Given the description of an element on the screen output the (x, y) to click on. 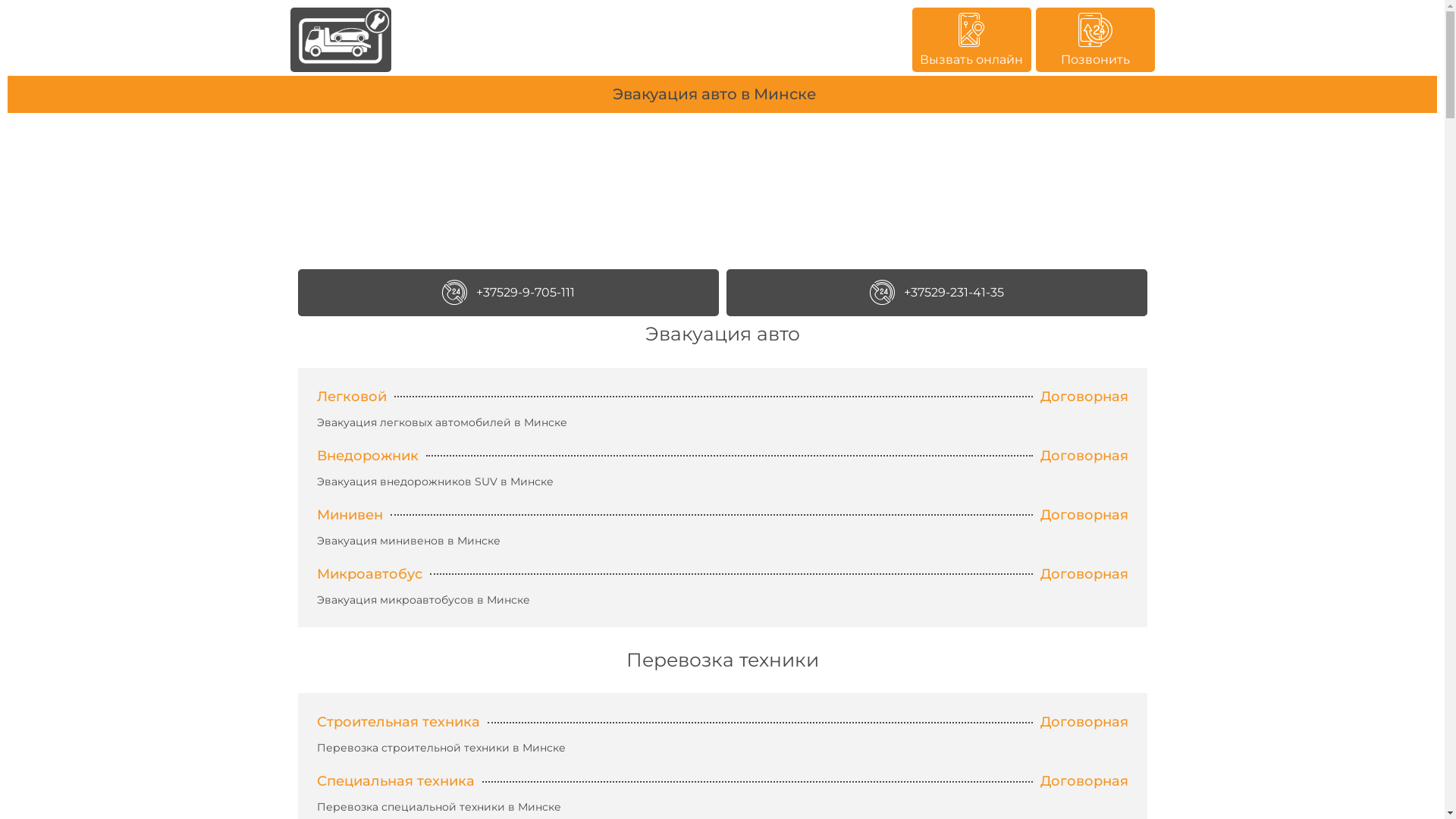
+37529-231-41-35 Element type: text (936, 292)
+37529-9-705-111 Element type: text (507, 292)
